Given the description of an element on the screen output the (x, y) to click on. 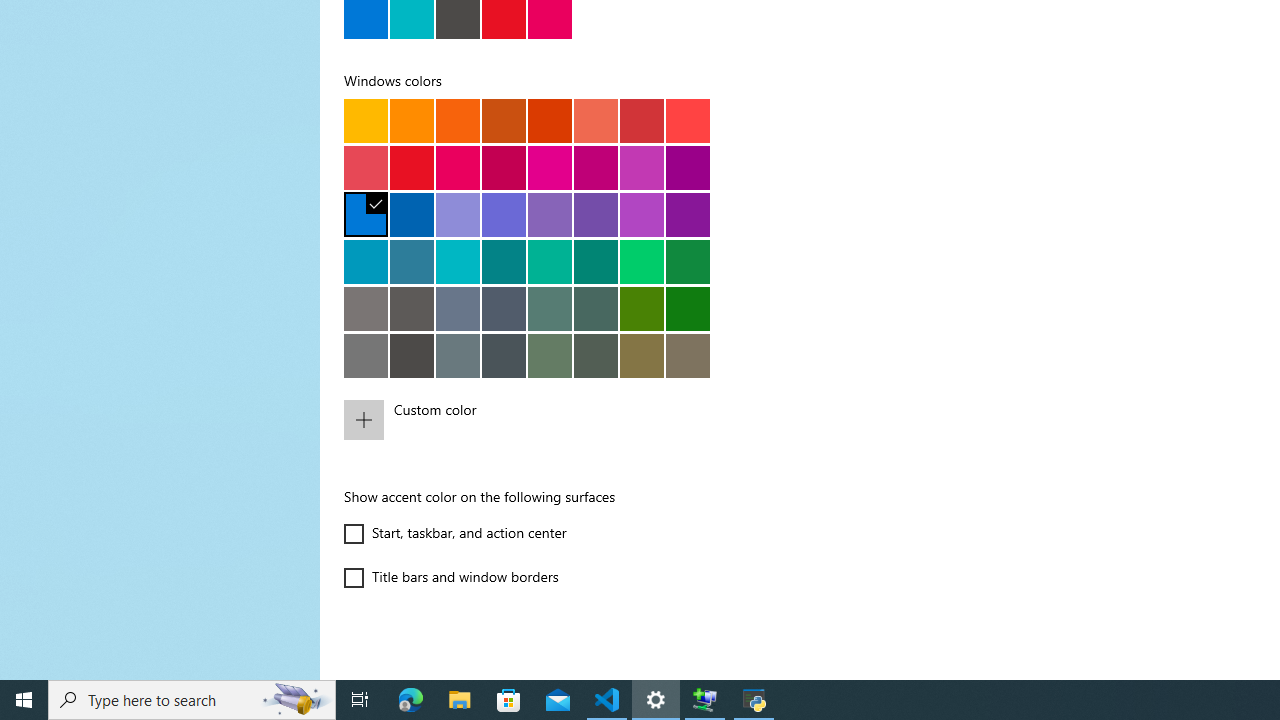
Mod red (687, 120)
Brick red (641, 120)
Sport green (687, 261)
Turf green (641, 261)
Rose bright (458, 167)
Purple shadow dark (504, 214)
Pale rust (595, 120)
Orange bright (458, 120)
Red (411, 167)
Sage (595, 355)
Camouflage (687, 355)
Overcast (365, 355)
